Given the description of an element on the screen output the (x, y) to click on. 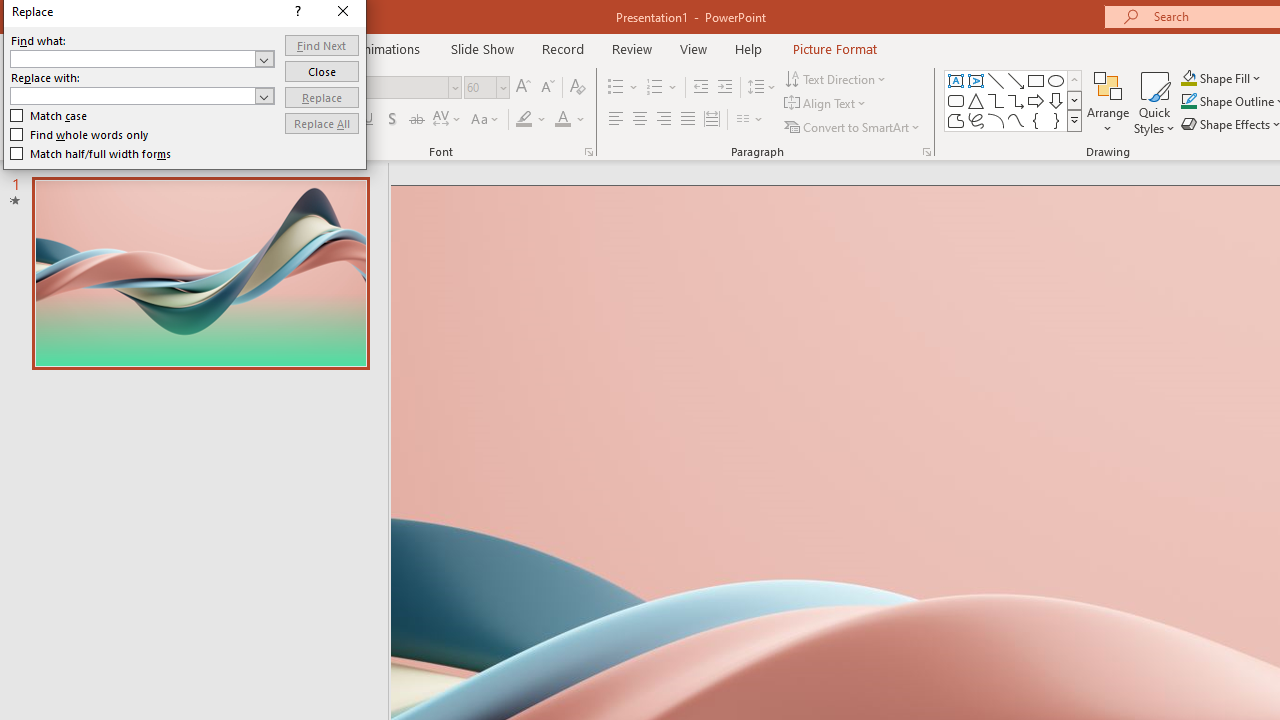
Connector: Elbow (995, 100)
Text Highlight Color Yellow (524, 119)
Align Text (826, 103)
Layout (252, 78)
Convert to SmartArt (853, 126)
Align Right (663, 119)
